Given the description of an element on the screen output the (x, y) to click on. 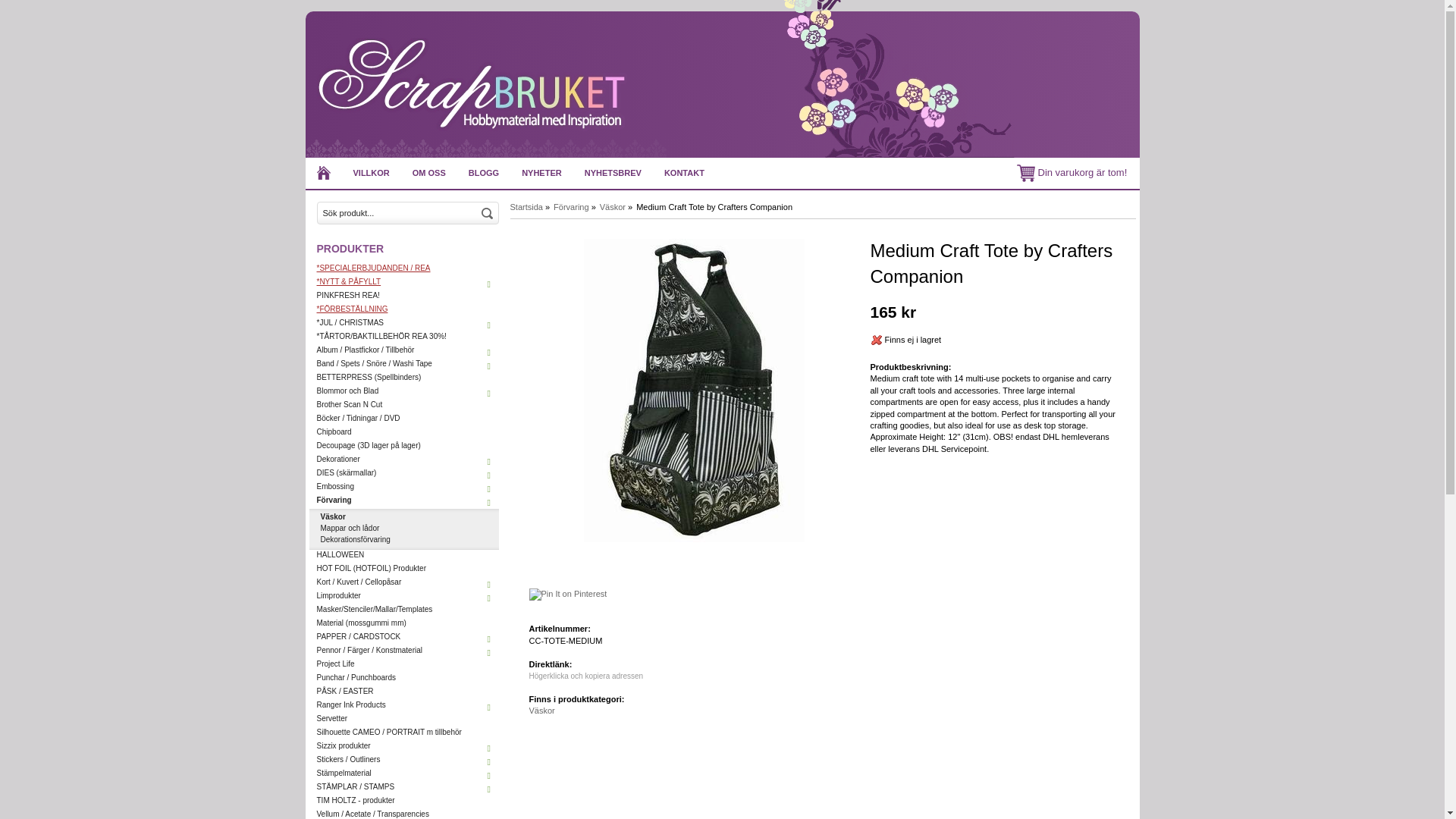
VILLKOR (370, 173)
PINKFRESH REA! (403, 296)
BLOGG (484, 173)
PINKFRESH REA! (403, 296)
Tillbaka till startsidan (322, 173)
OM OSS (429, 173)
KONTAKT (684, 173)
NYHETSBREV (612, 173)
NYHETER (542, 173)
